Given the description of an element on the screen output the (x, y) to click on. 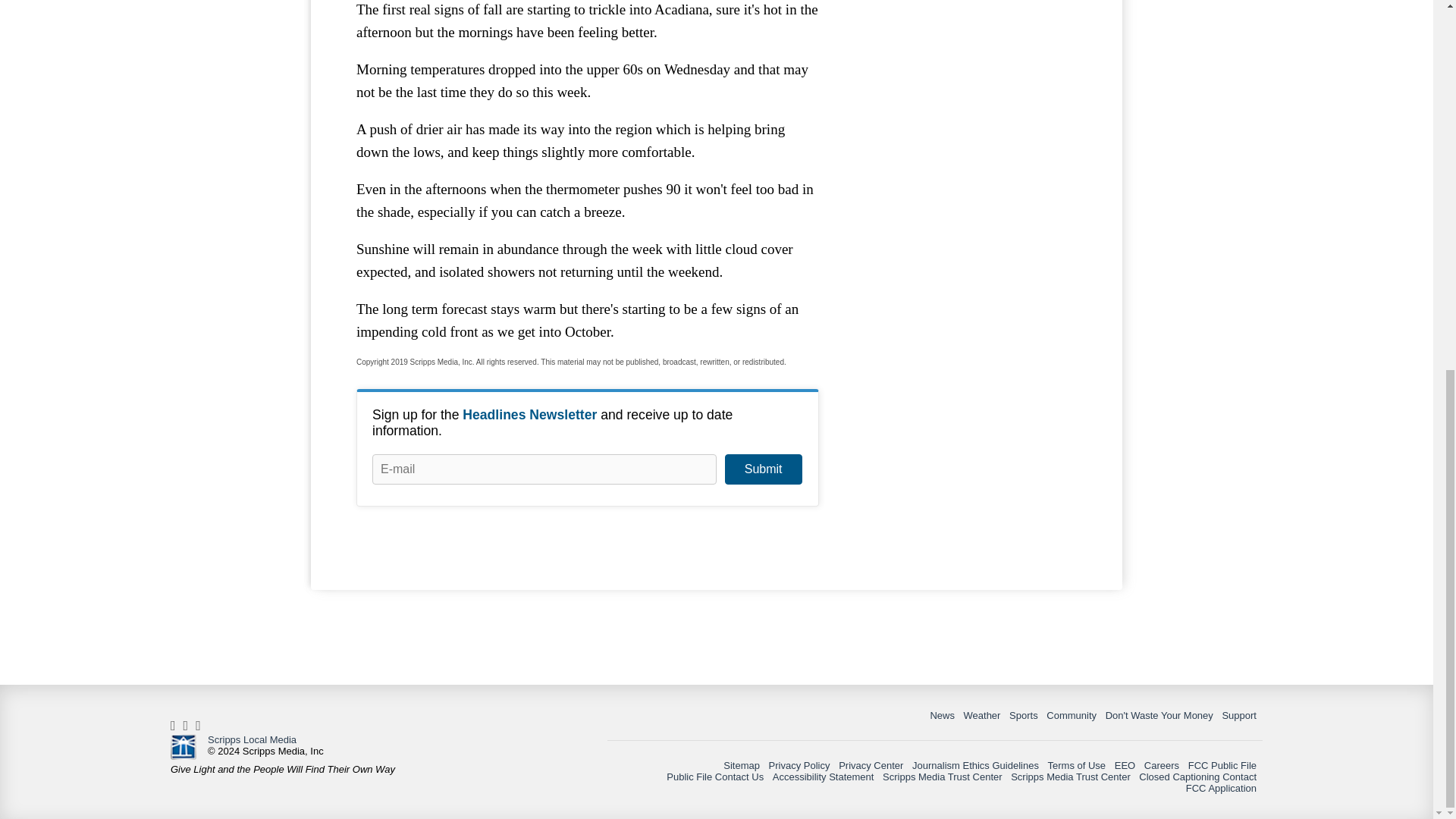
Submit (763, 469)
